Given the description of an element on the screen output the (x, y) to click on. 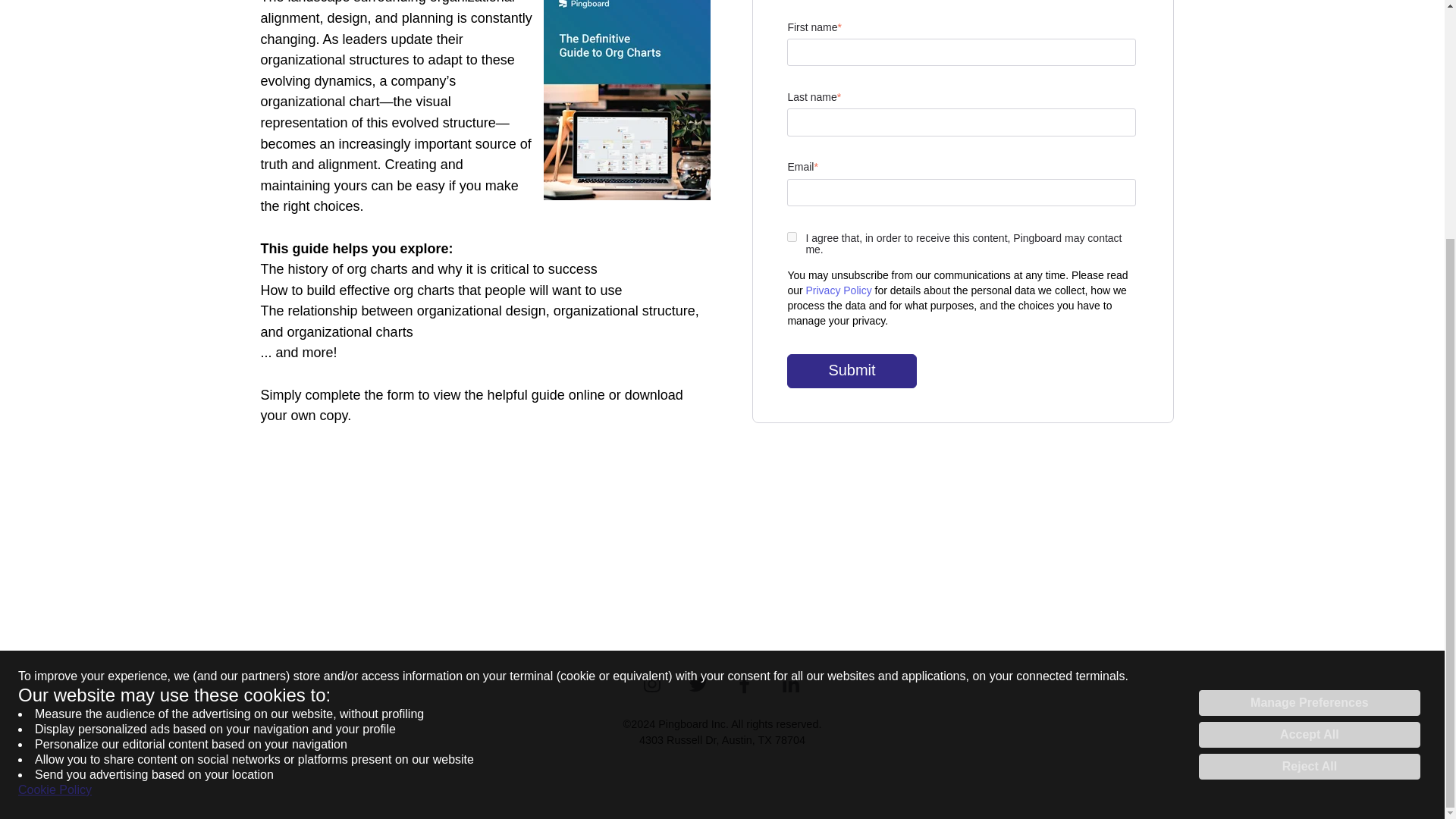
Submit (851, 370)
Cookie Policy (54, 462)
Accept All (1309, 406)
true (791, 236)
Reject All (1309, 438)
Manage Preferences (1309, 375)
Privacy Policy (837, 290)
Submit (851, 370)
